Given the description of an element on the screen output the (x, y) to click on. 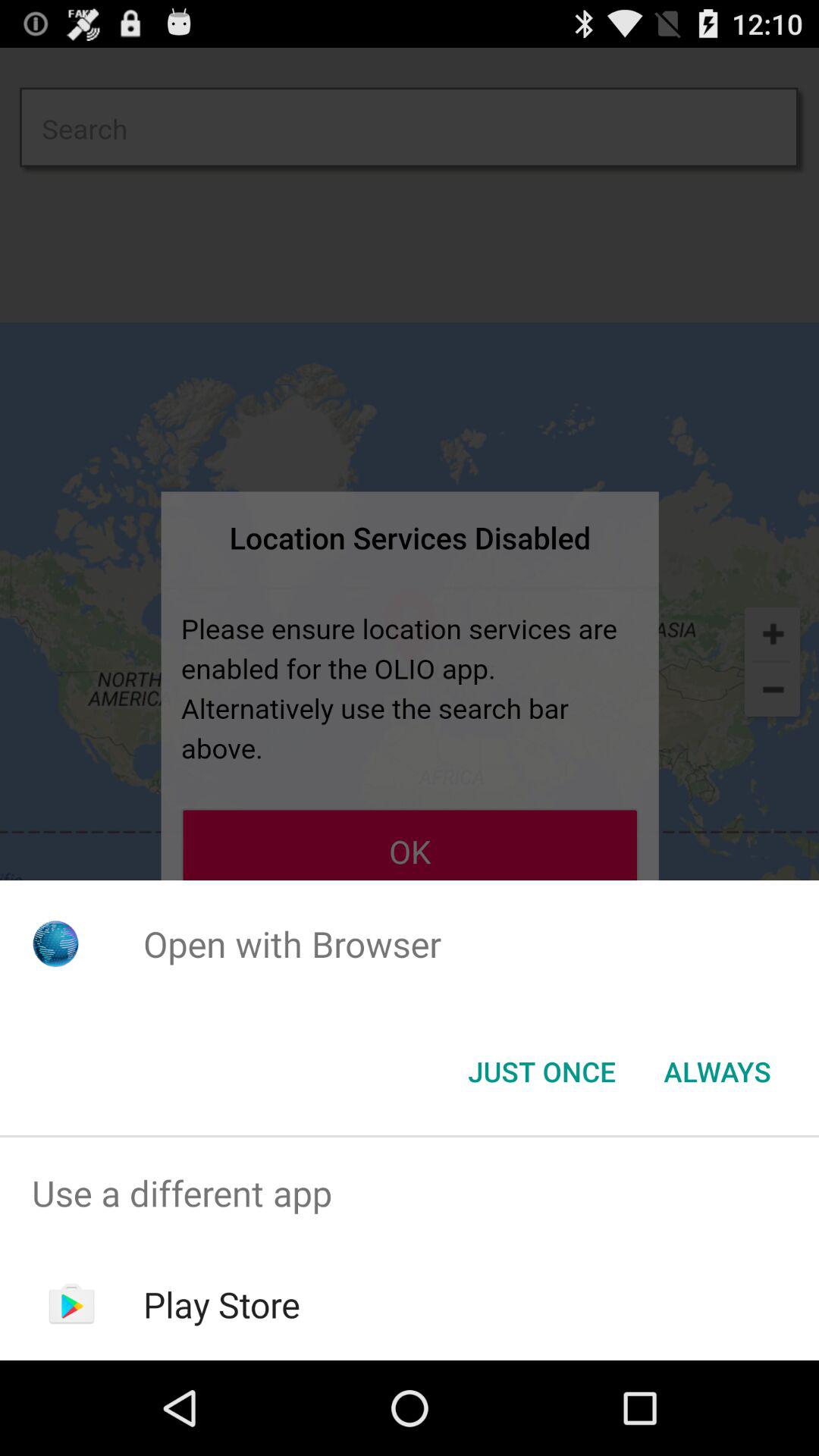
flip to play store (221, 1304)
